Given the description of an element on the screen output the (x, y) to click on. 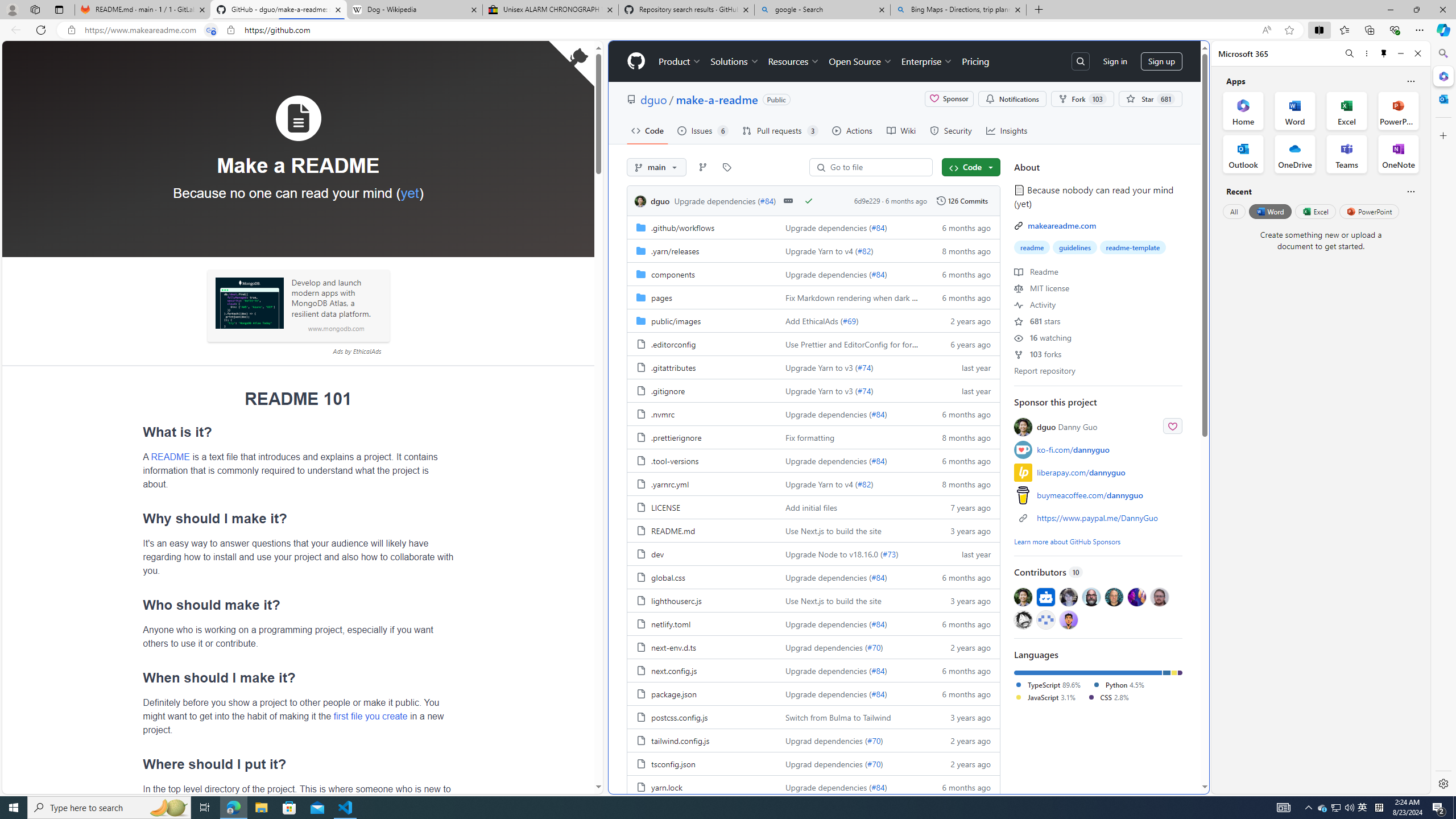
.nvmrc, (File) (662, 413)
.tool-versions, (File) (674, 460)
success (808, 200)
Fork 103 (1081, 98)
liberapay (1022, 471)
@web3Gurung (1068, 619)
Upgrad dependencies (#70) (849, 763)
@davidak (1068, 596)
Homepage (635, 61)
AutomationID: folder-row-8 (813, 413)
Upgrade dependencies ( (828, 786)
